Given the description of an element on the screen output the (x, y) to click on. 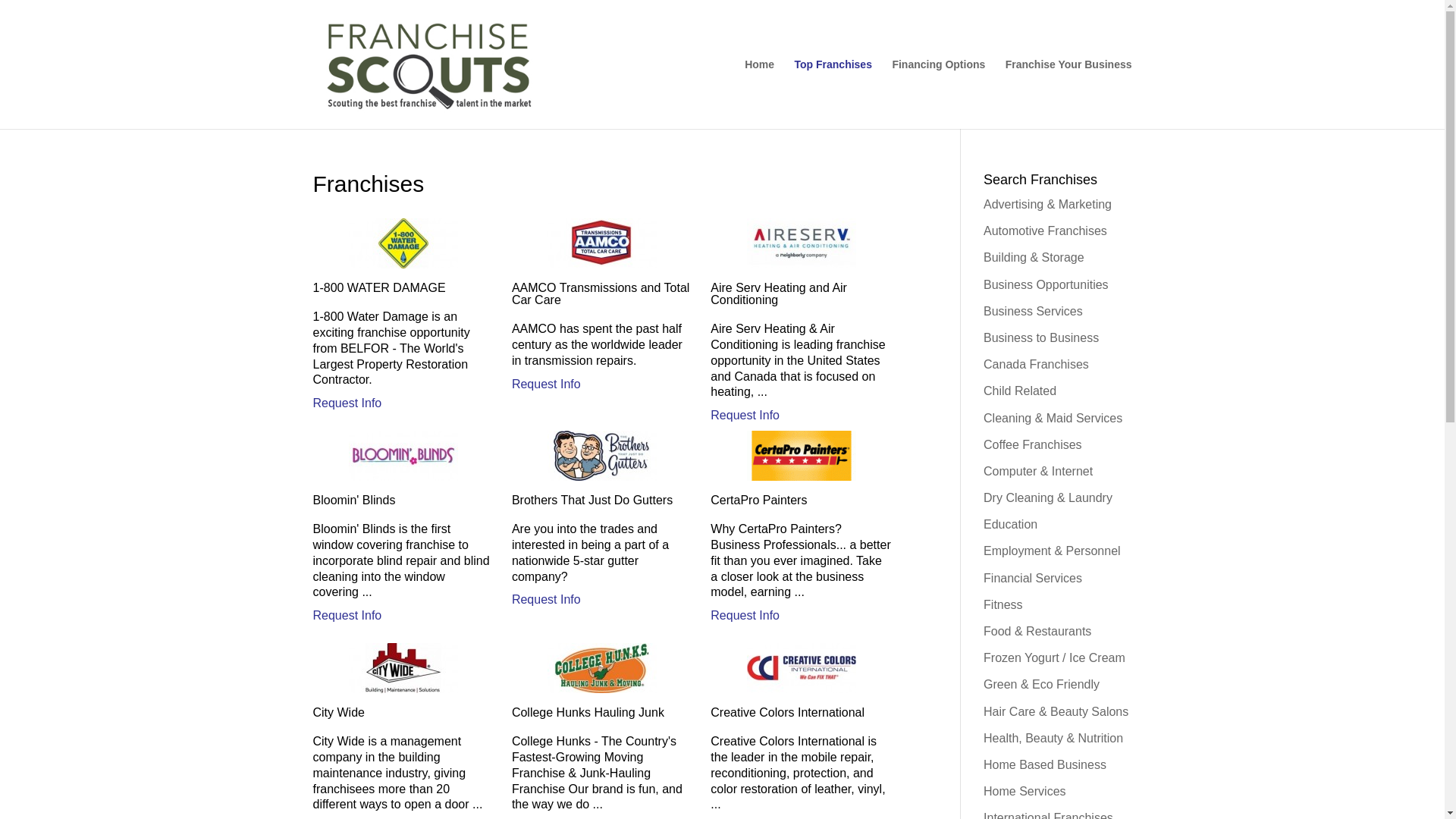
Request Info (546, 600)
Request Info (744, 616)
Child Related (1020, 390)
CertaPro Painters (744, 616)
Business Opportunities (1046, 284)
Franchise Your Business (1069, 93)
Brothers That Just Do Gutters (546, 600)
Request Info (347, 616)
Top Franchises (833, 93)
Aire Serv Heating and Air Conditioning (744, 415)
Request Info (546, 384)
Bloomin' Blinds (347, 616)
AAMCO Transmissions and Total Car Care (546, 384)
Business to Business (1041, 337)
Financing Options (938, 93)
